Given the description of an element on the screen output the (x, y) to click on. 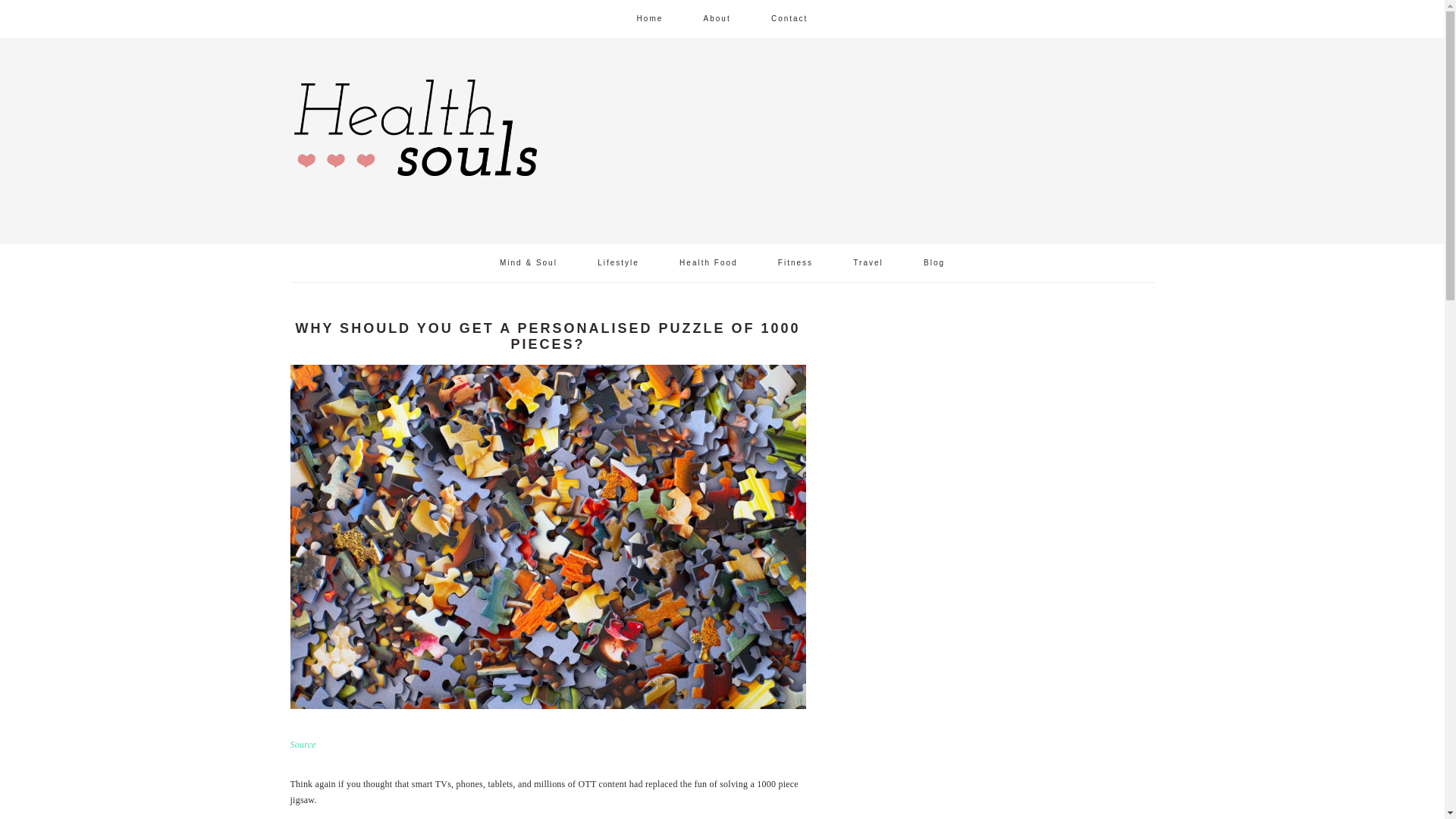
Contact (789, 18)
Lifestyle (618, 262)
Fitness (794, 262)
Health Food (708, 262)
Home (649, 18)
Travel (867, 262)
About (716, 18)
Blog (933, 262)
HEALTH SOULS (415, 136)
